Given the description of an element on the screen output the (x, y) to click on. 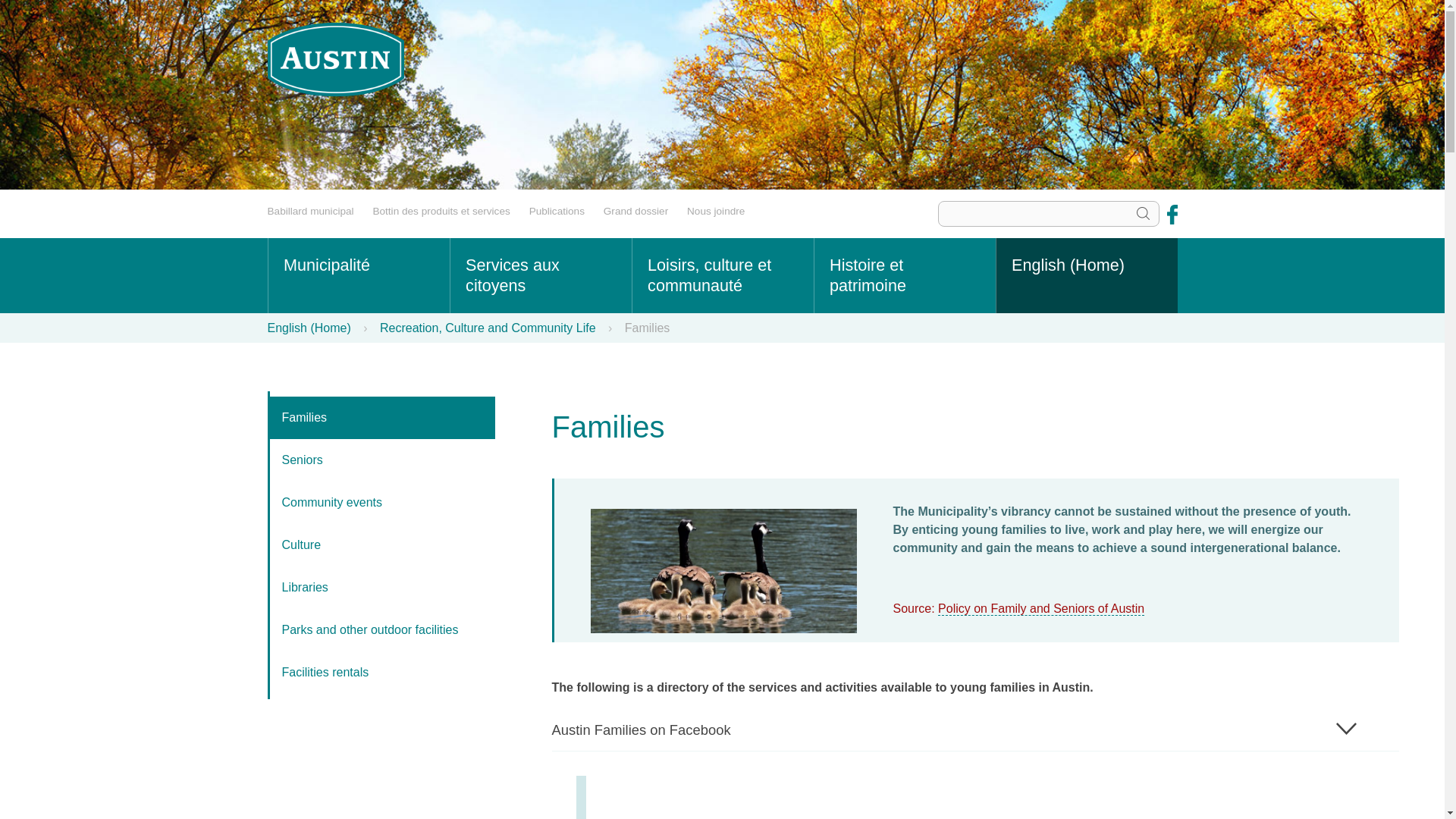
Babillard municipal (309, 211)
Services aux citoyens (539, 275)
Nous joindre (715, 211)
Publications (557, 211)
Grand dossier (636, 211)
Bottin des produits et services (440, 211)
